Given the description of an element on the screen output the (x, y) to click on. 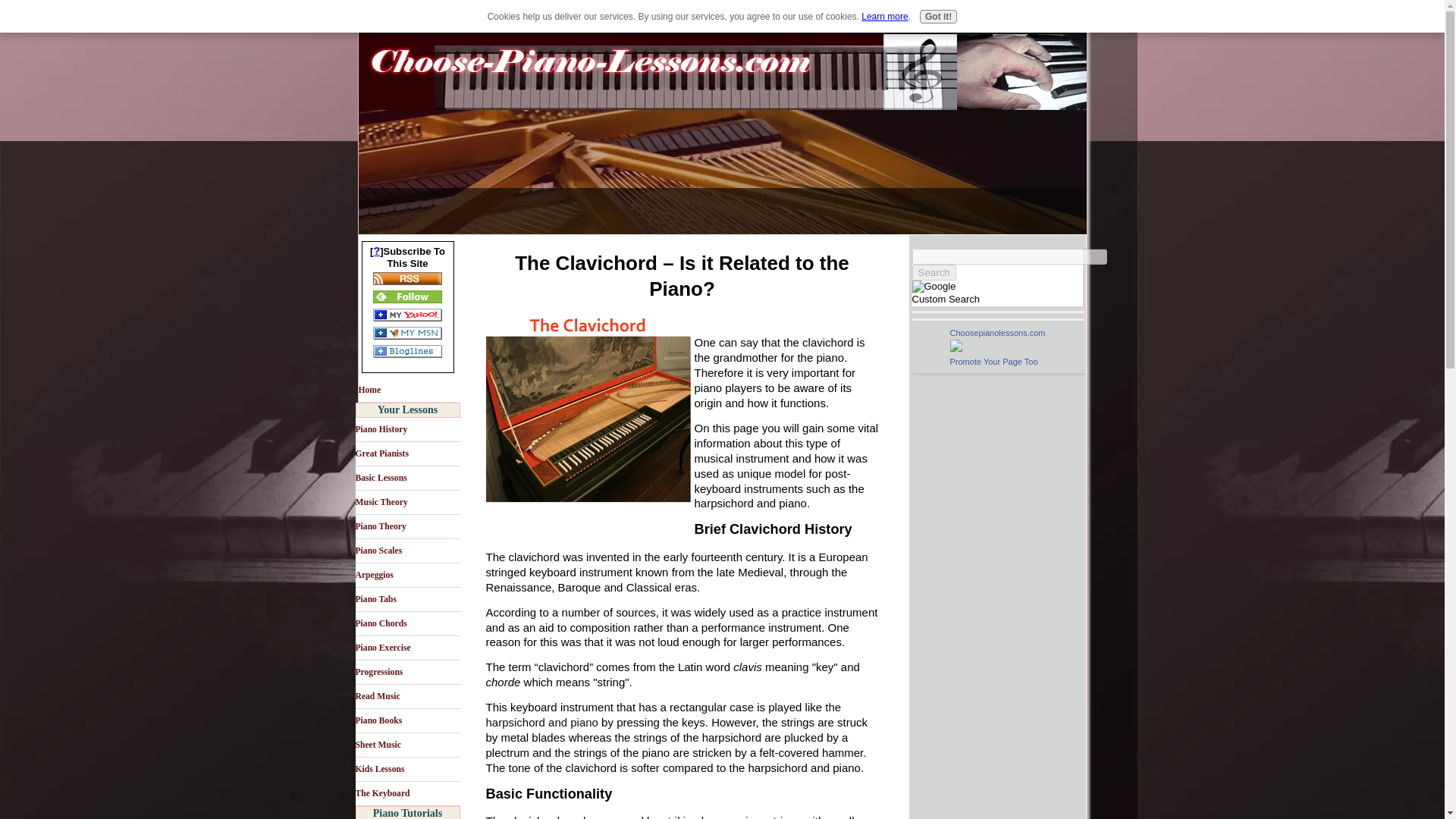
Piano Exercise (407, 648)
Piano Chords (407, 623)
Make your own badge! (992, 361)
Progressions (407, 672)
Search (933, 272)
Arpeggios (407, 575)
Read Music (407, 696)
Piano History (407, 429)
The Keyboard (407, 793)
Great Pianists (407, 454)
Music Theory (407, 502)
Home (407, 390)
Choosepianolessons.com (997, 332)
Sheet Music (407, 745)
Basic Lessons (407, 478)
